Given the description of an element on the screen output the (x, y) to click on. 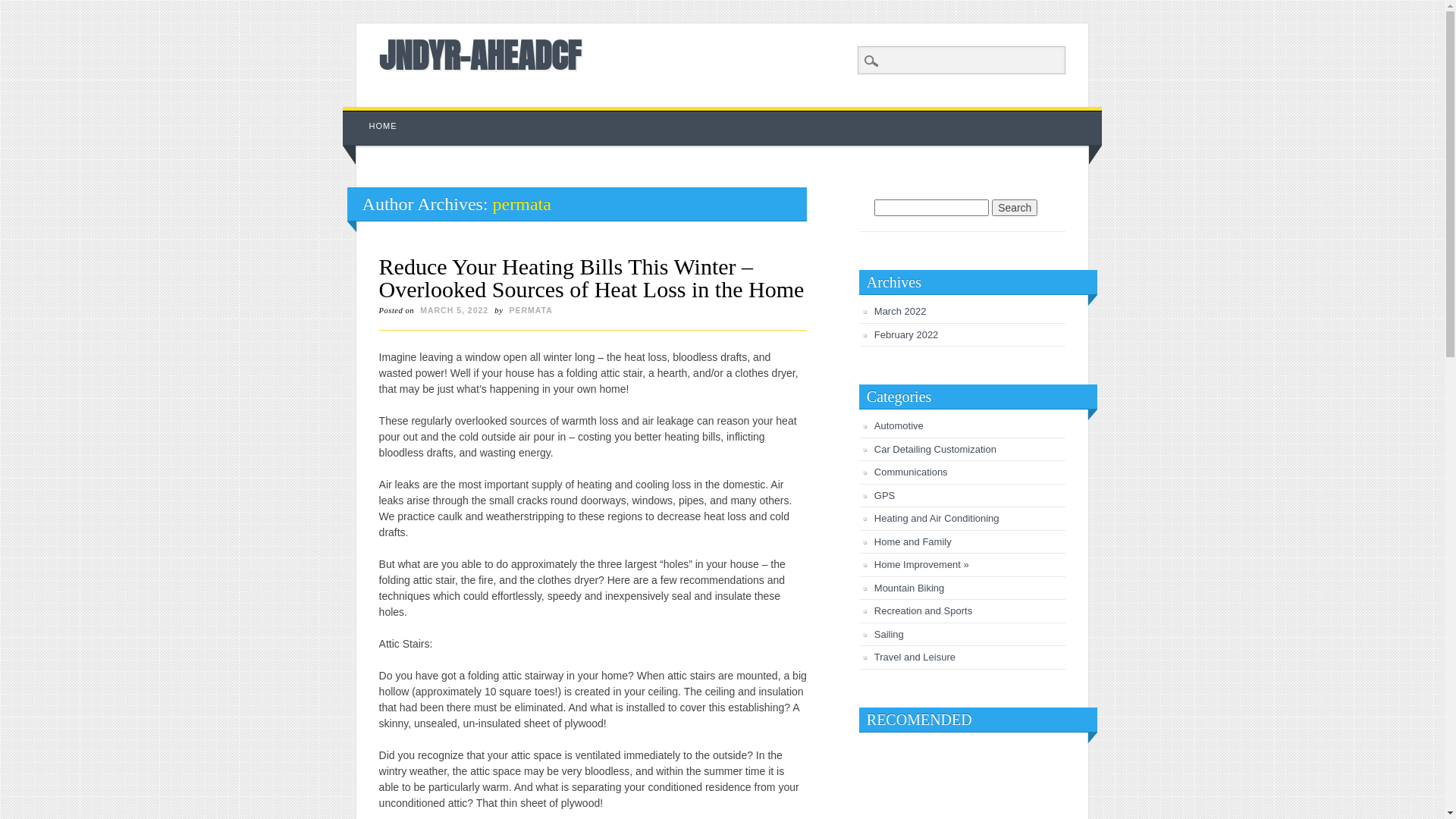
March 2022 Element type: text (900, 310)
JNDYR-AHEADCF Element type: text (479, 55)
MARCH 5, 2022 Element type: text (454, 309)
Home and Family Element type: text (912, 541)
February 2022 Element type: text (906, 334)
Mountain Biking Element type: text (909, 587)
Automotive Element type: text (898, 425)
permata Element type: text (521, 203)
Sailing Element type: text (888, 634)
Travel and Leisure Element type: text (914, 656)
Search Element type: text (1014, 207)
Car Detailing Customization Element type: text (935, 449)
Search Element type: text (22, 8)
GPS Element type: text (884, 495)
Recreation and Sports Element type: text (923, 610)
Heating and Air Conditioning Element type: text (936, 518)
PERMATA Element type: text (530, 309)
HOME Element type: text (383, 125)
Communications Element type: text (910, 471)
Skip to content Element type: text (377, 114)
